Given the description of an element on the screen output the (x, y) to click on. 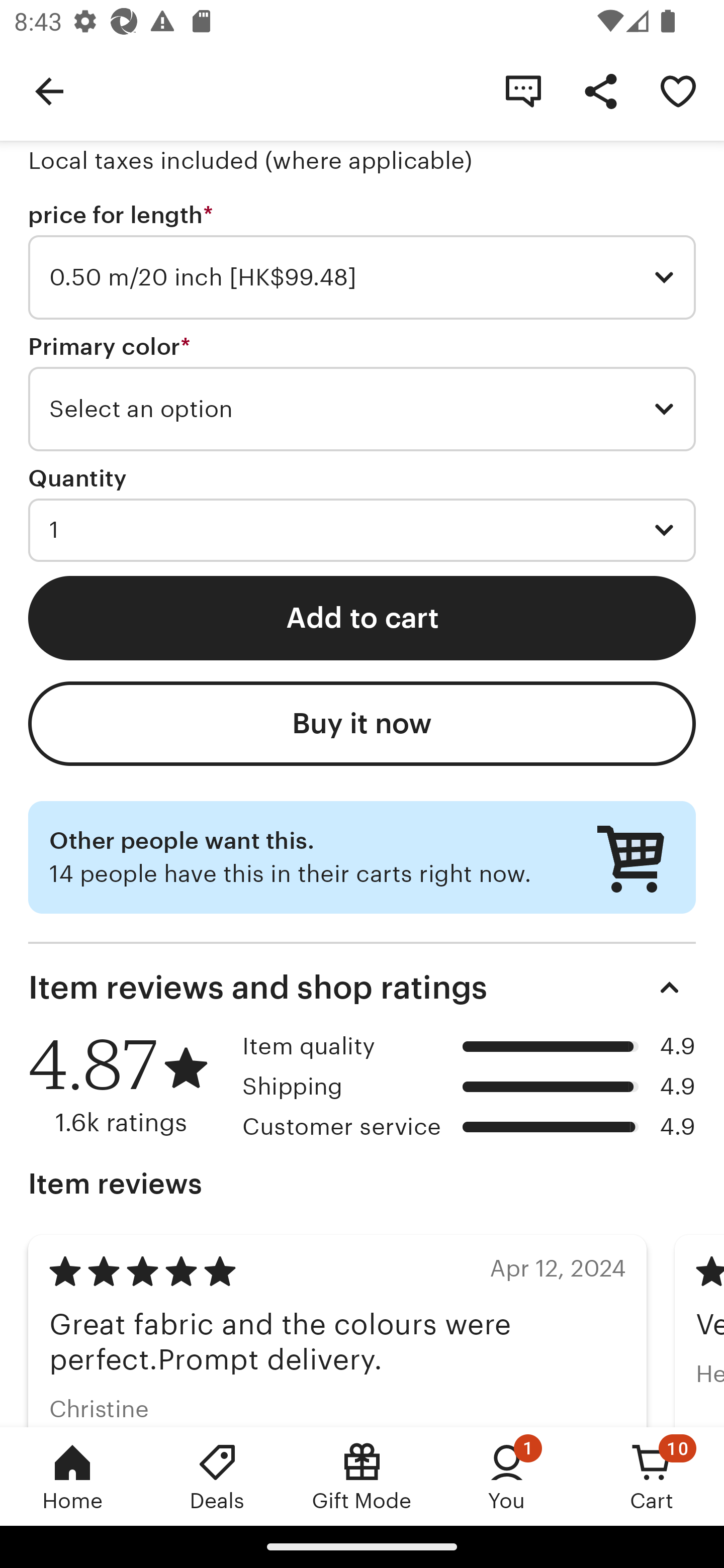
Navigate up (49, 90)
Contact shop (523, 90)
Share (600, 90)
0.50 m/20 inch [HK$99.48] (361, 277)
Primary color * Required Select an option (361, 392)
Select an option (361, 408)
Quantity (77, 477)
1 (361, 529)
Add to cart (361, 617)
Buy it now (361, 723)
Item reviews and shop ratings (362, 987)
4.87 1.6k ratings (128, 1084)
Deals (216, 1475)
Gift Mode (361, 1475)
You, 1 new notification You (506, 1475)
Cart, 10 new notifications Cart (651, 1475)
